Given the description of an element on the screen output the (x, y) to click on. 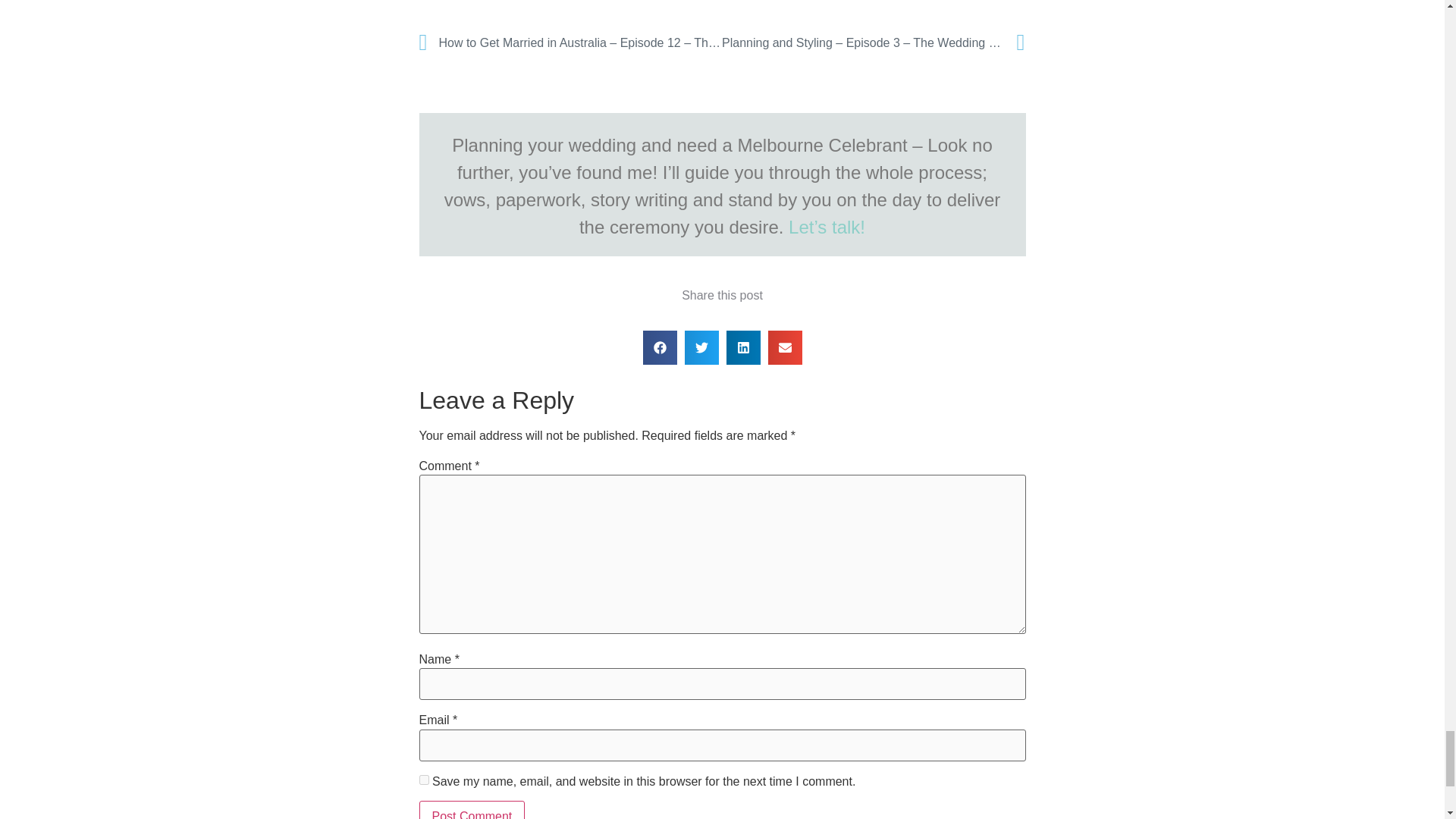
Post Comment (471, 809)
yes (423, 779)
